Given the description of an element on the screen output the (x, y) to click on. 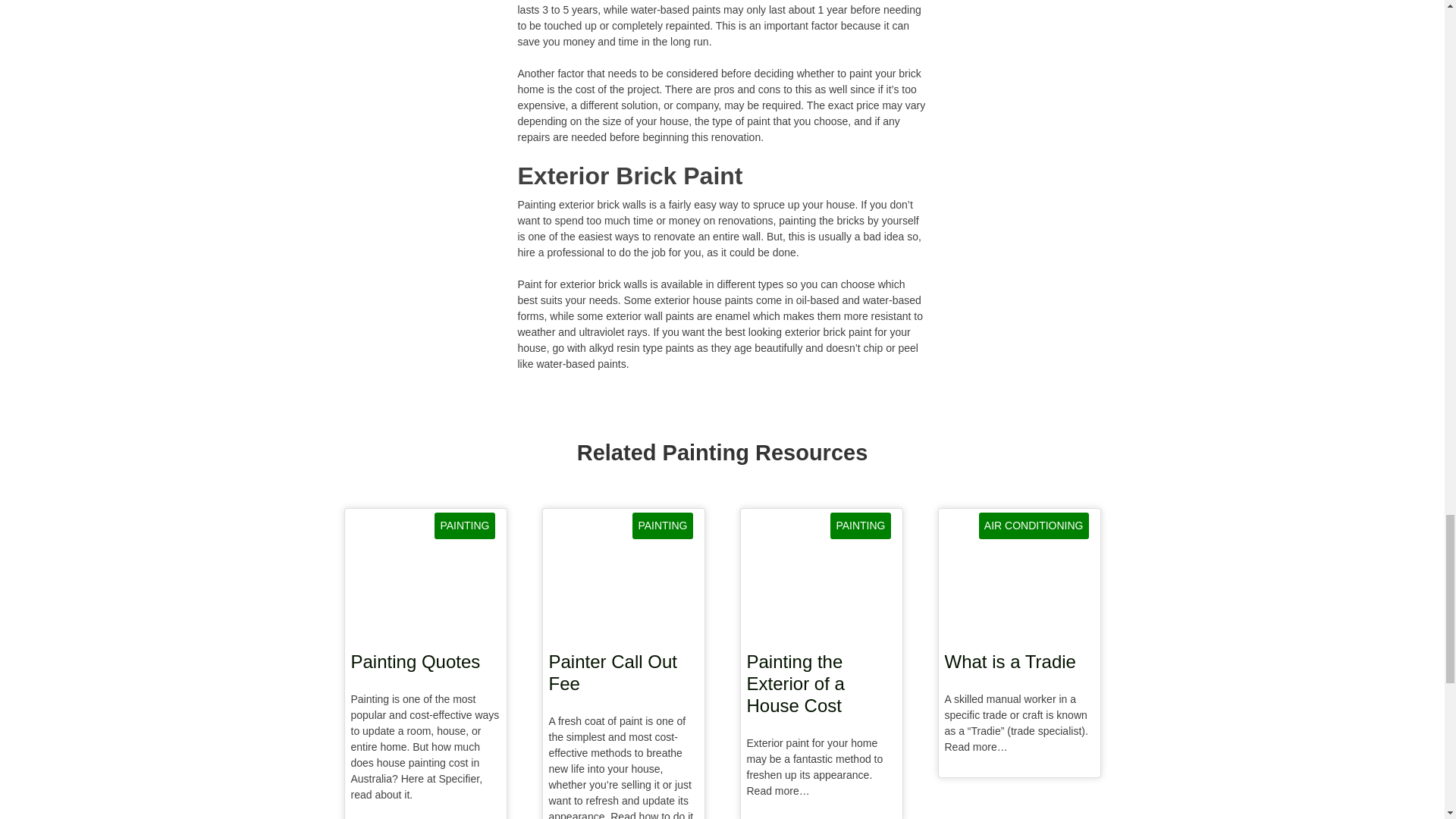
Painter Call Out Fee (623, 676)
Painting the Exterior of a House Cost (820, 686)
Painting Quotes (424, 665)
